Given the description of an element on the screen output the (x, y) to click on. 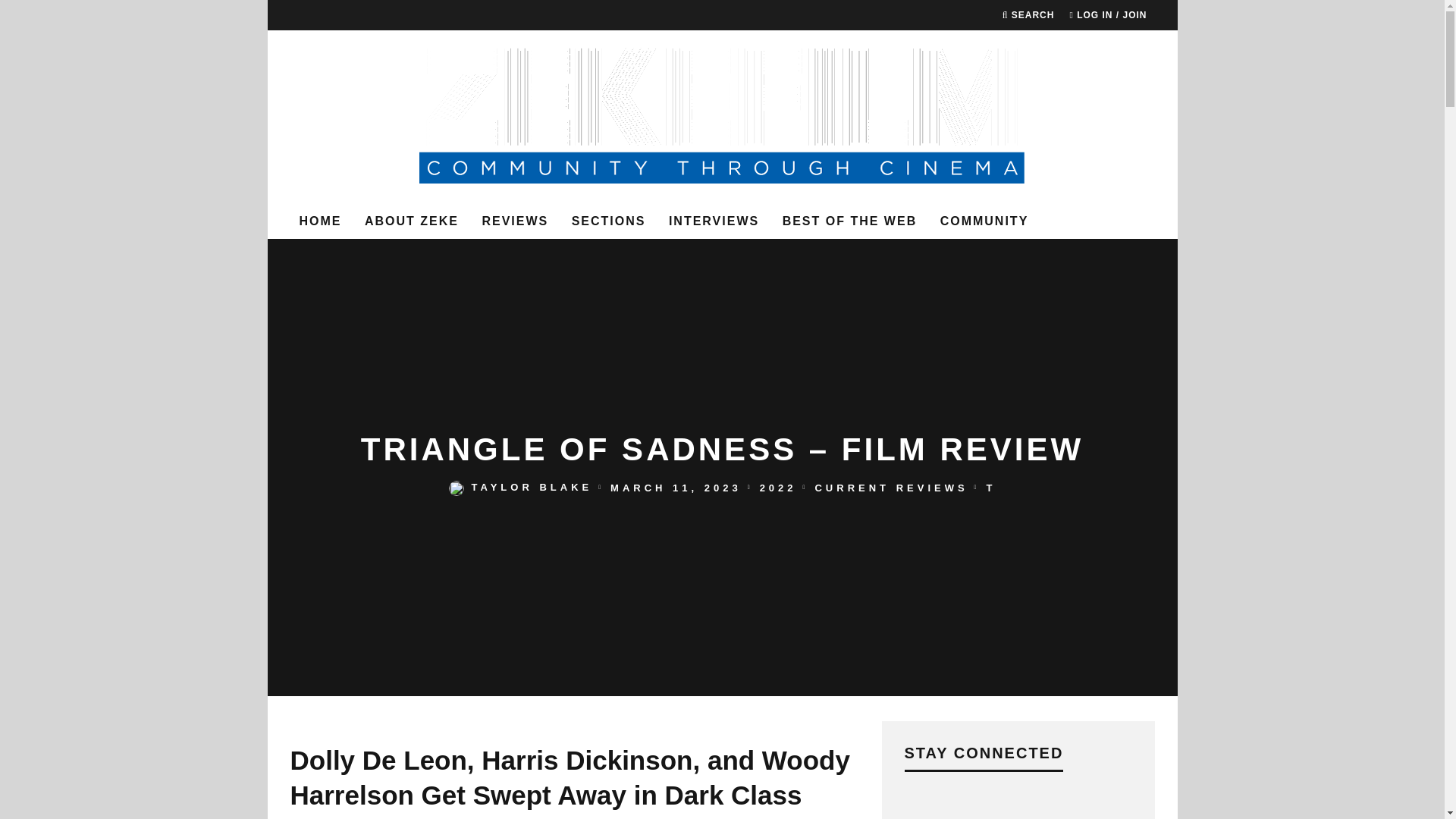
View all posts in Current Reviews (890, 487)
Posts by Taylor Blake (531, 487)
Search (1028, 15)
Log In (721, 439)
View all posts in 2022 (778, 487)
ABOUT ZEKE (411, 221)
SEARCH (1028, 15)
HOME (319, 221)
